Given the description of an element on the screen output the (x, y) to click on. 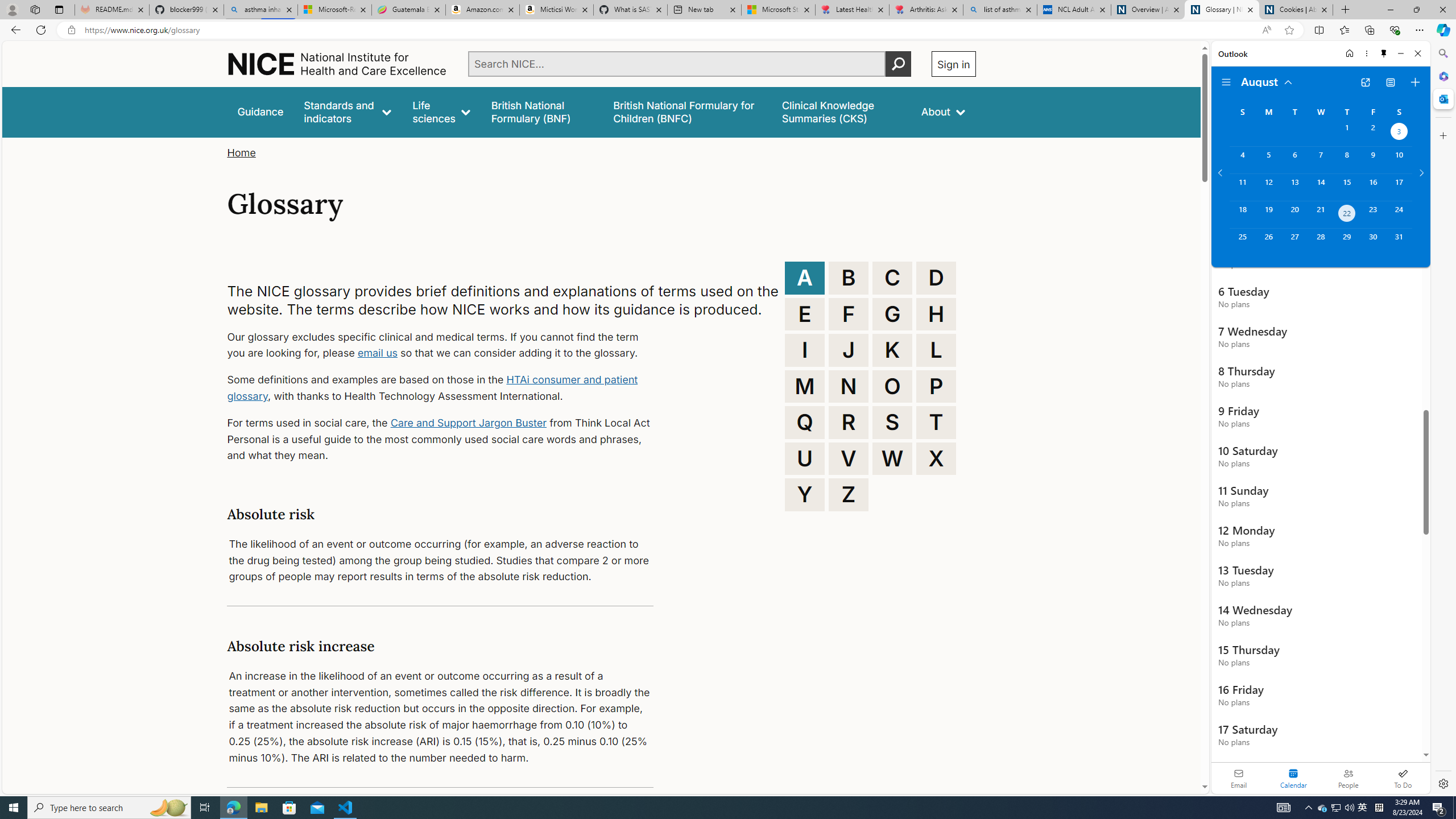
Friday, August 23, 2024.  (1372, 214)
Friday, August 30, 2024.  (1372, 241)
S (892, 422)
Saturday, August 3, 2024. Date selected.  (1399, 132)
F (848, 313)
O (892, 385)
Friday, August 16, 2024.  (1372, 186)
